Given the description of an element on the screen output the (x, y) to click on. 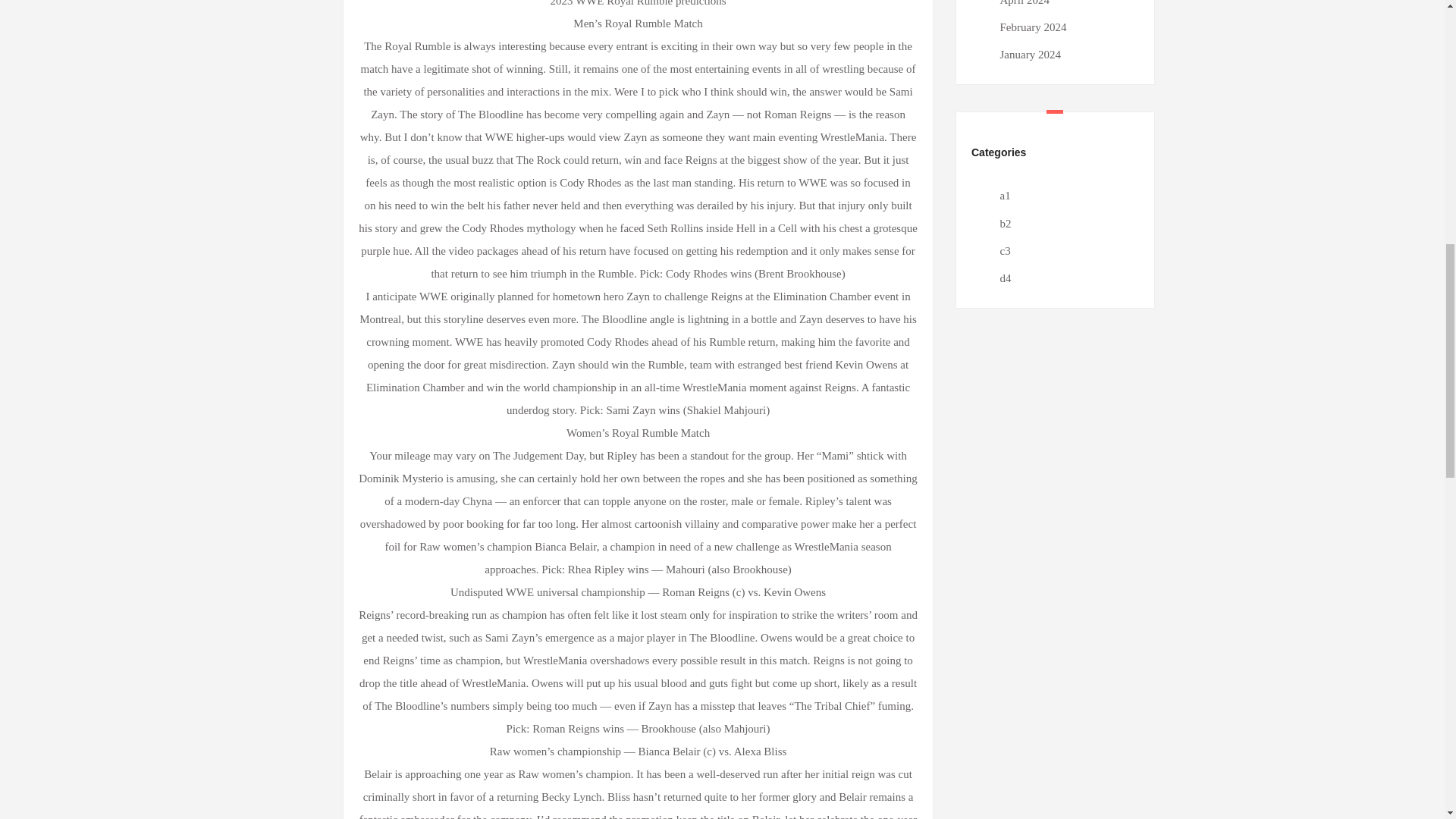
b2 (1004, 223)
January 2024 (1028, 54)
d4 (1004, 277)
February 2024 (1031, 27)
a1 (1004, 195)
c3 (1004, 250)
April 2024 (1023, 2)
